Given the description of an element on the screen output the (x, y) to click on. 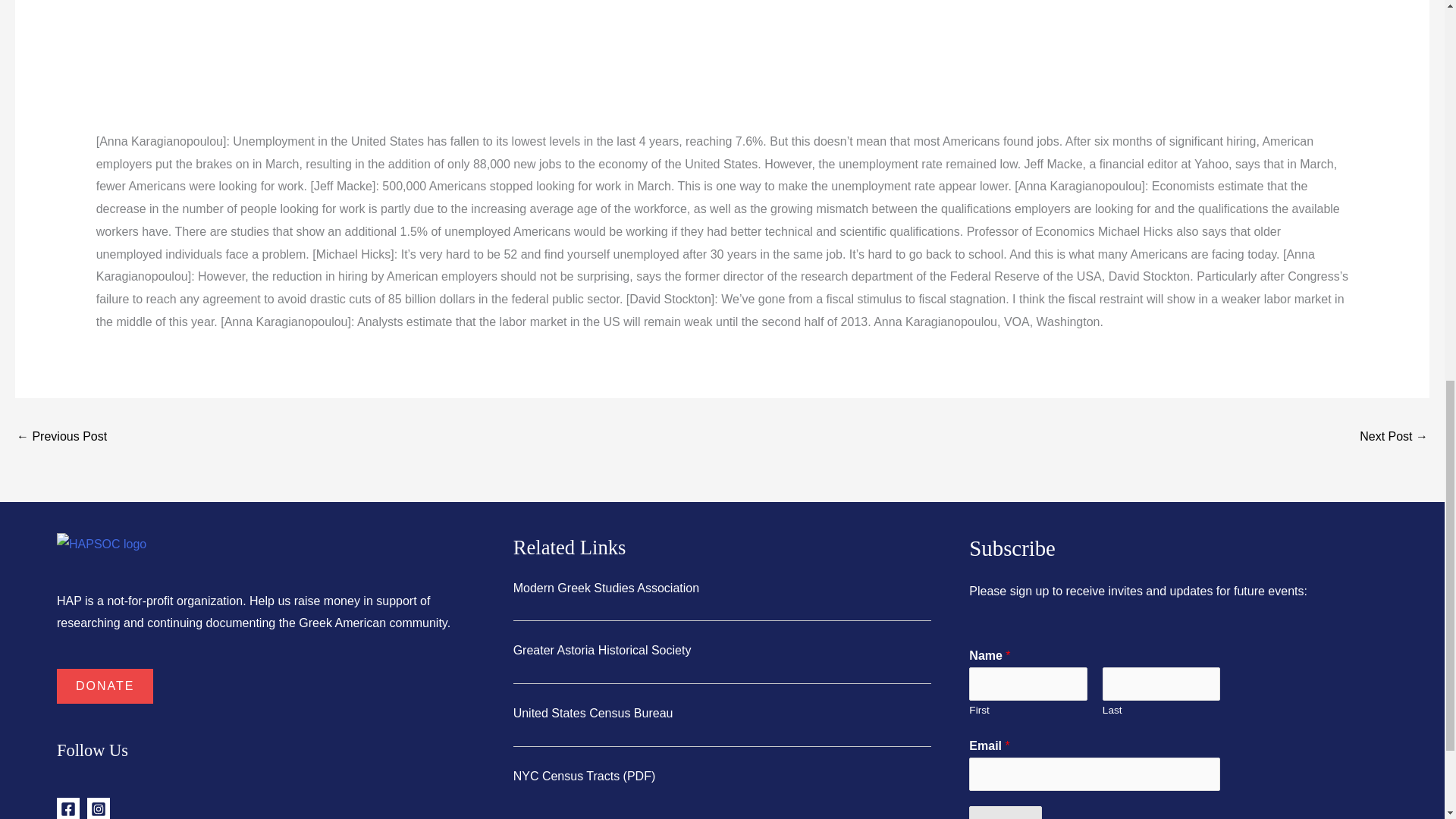
VOA NEWS REPORT GREEK 4 4 13 (61, 438)
VOA NEWS REPORT GREEK 5 9 13 (1393, 438)
